Given the description of an element on the screen output the (x, y) to click on. 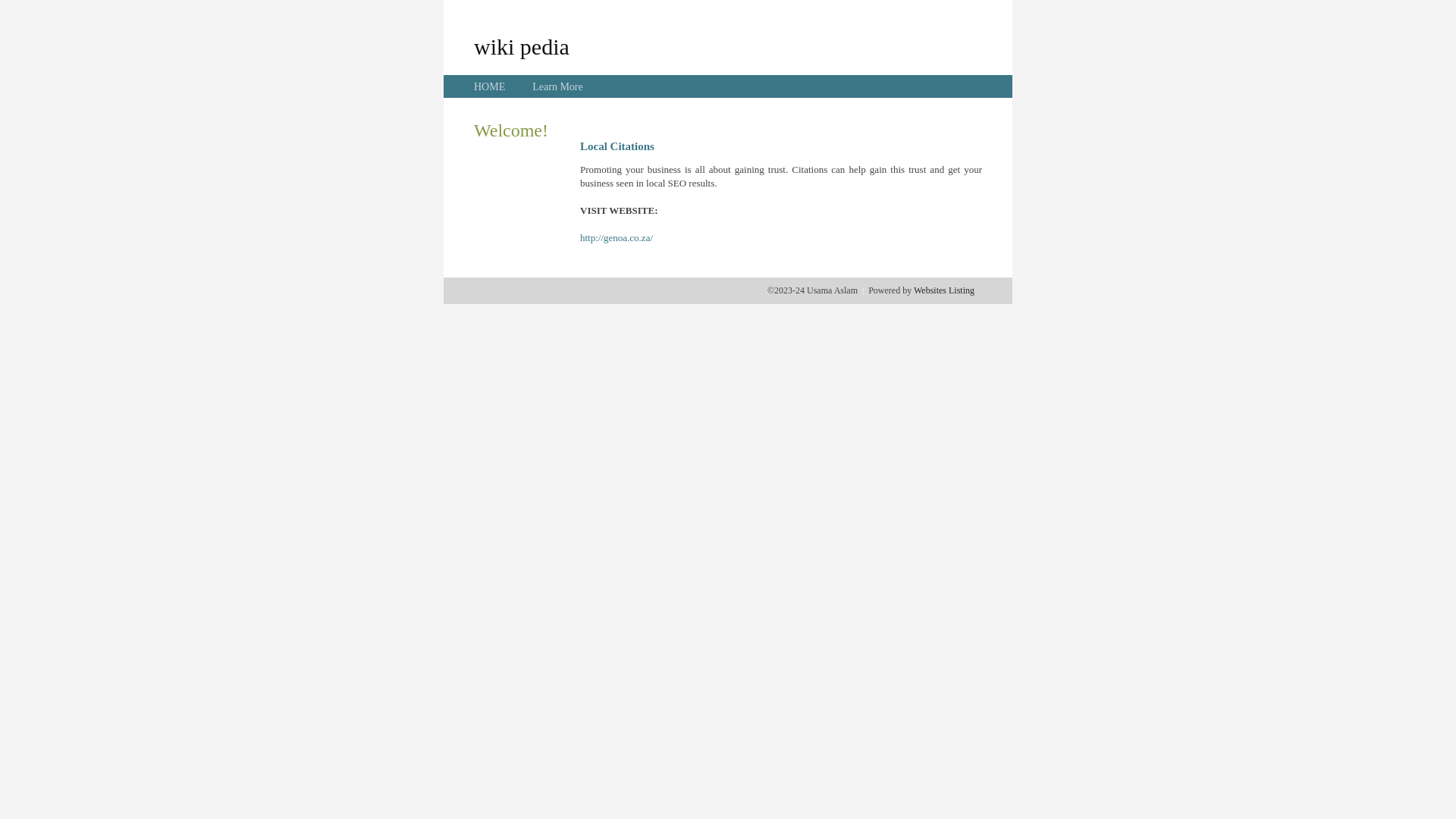
wiki pedia Element type: text (521, 46)
http://genoa.co.za/ Element type: text (616, 237)
HOME Element type: text (489, 86)
Websites Listing Element type: text (943, 290)
Learn More Element type: text (557, 86)
